Given the description of an element on the screen output the (x, y) to click on. 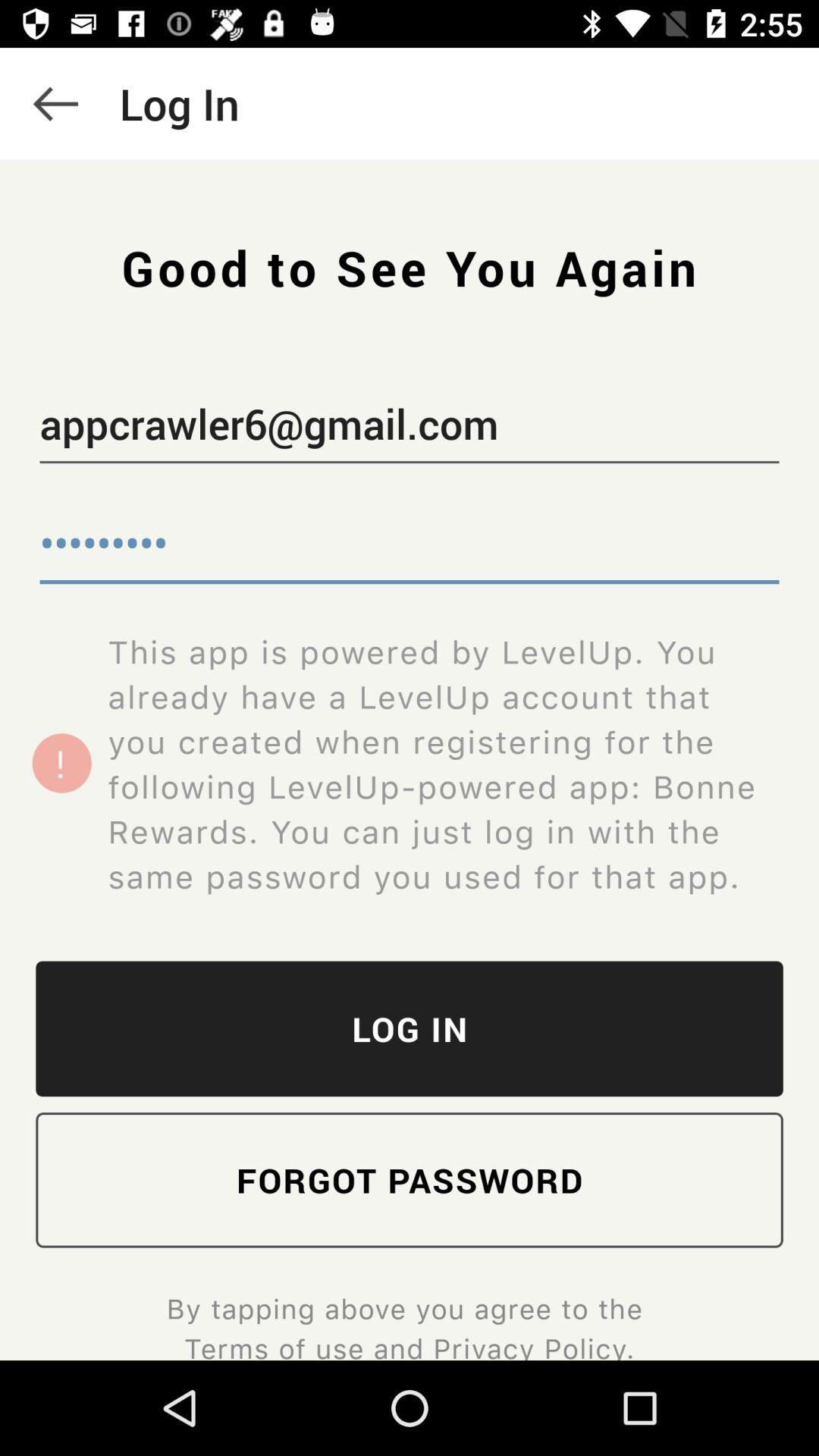
click item below the log in (409, 1179)
